Given the description of an element on the screen output the (x, y) to click on. 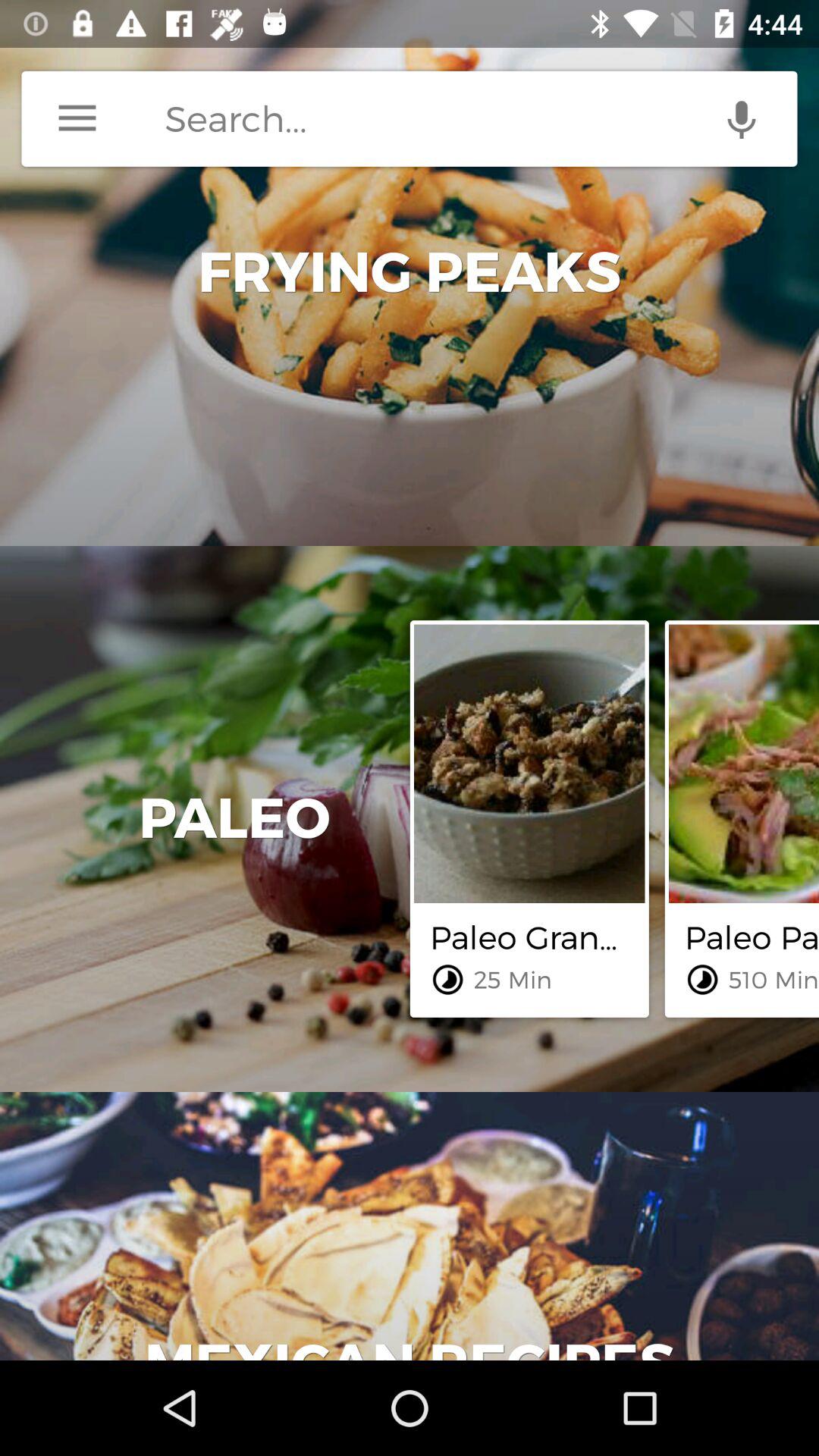
menu button (77, 118)
